Given the description of an element on the screen output the (x, y) to click on. 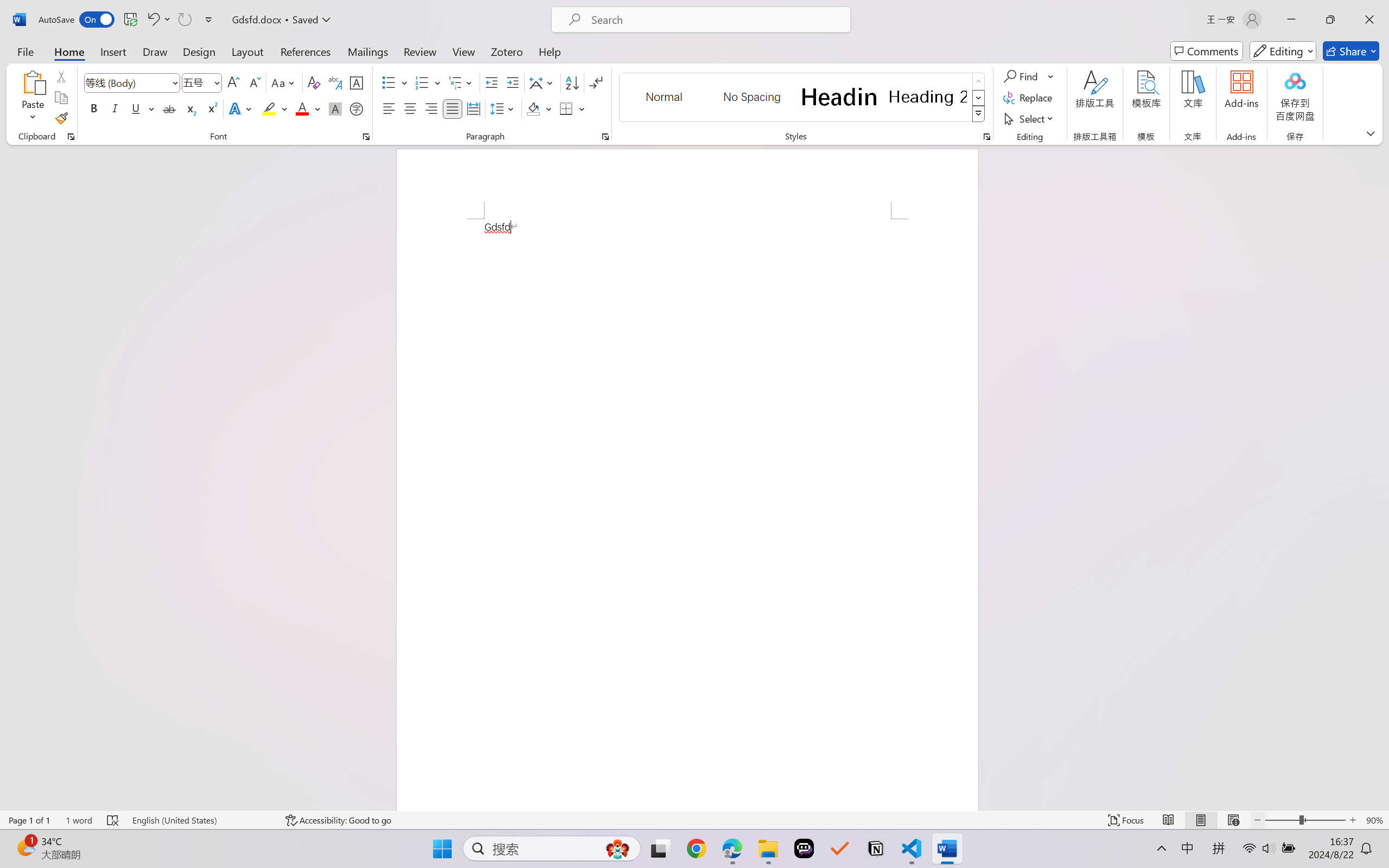
Justify (452, 108)
Character Shading (334, 108)
Class: NetUIScrollBar (1382, 477)
Grow Font (233, 82)
Character Border (356, 82)
Format Painter (60, 118)
Center (409, 108)
Align Left (388, 108)
